Given the description of an element on the screen output the (x, y) to click on. 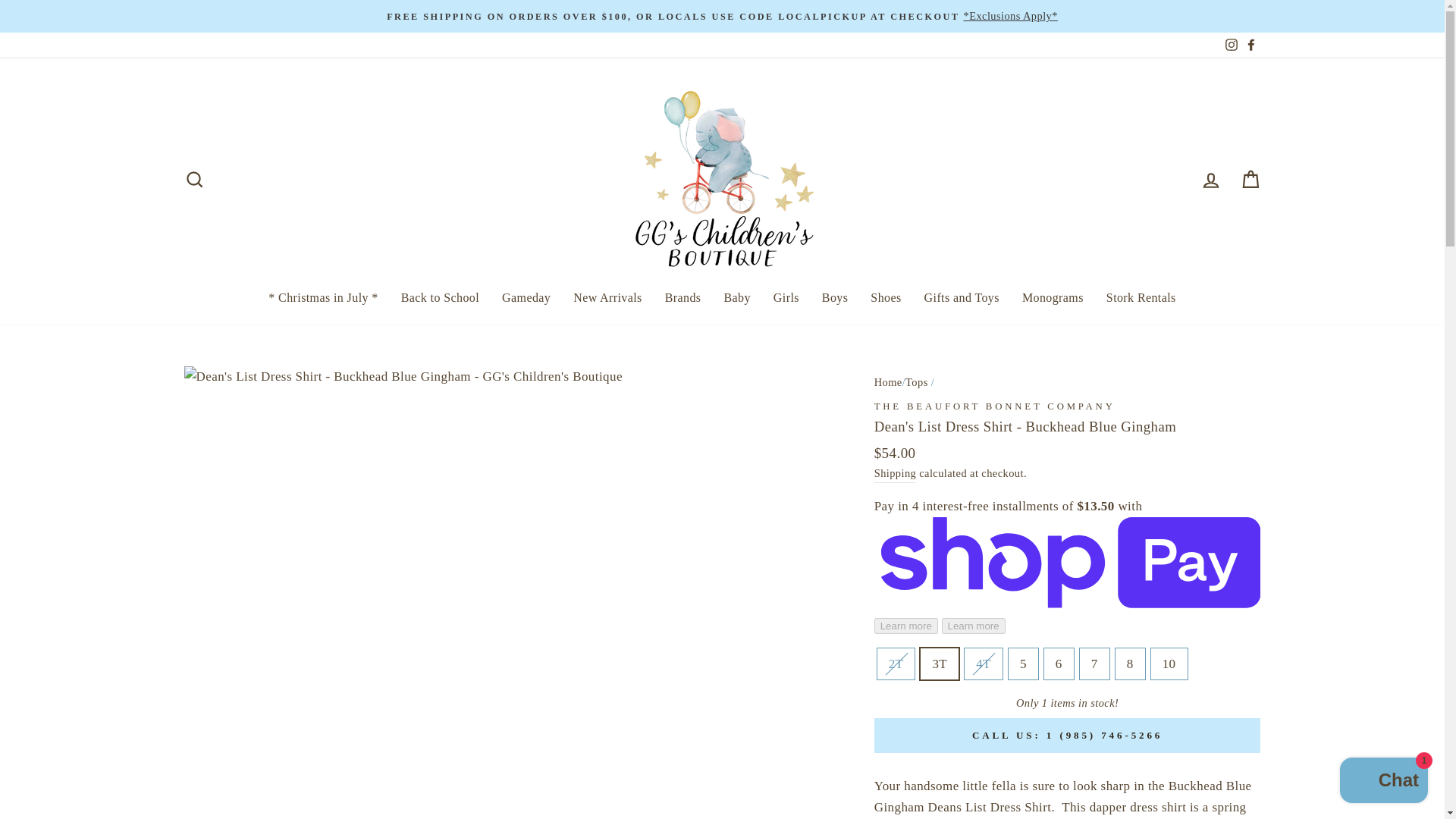
Shopify online store chat (1383, 781)
GG's Children's Boutique on Facebook (1250, 44)
GG's Children's Boutique on Instagram (1230, 44)
Back to the frontpage (888, 381)
